Given the description of an element on the screen output the (x, y) to click on. 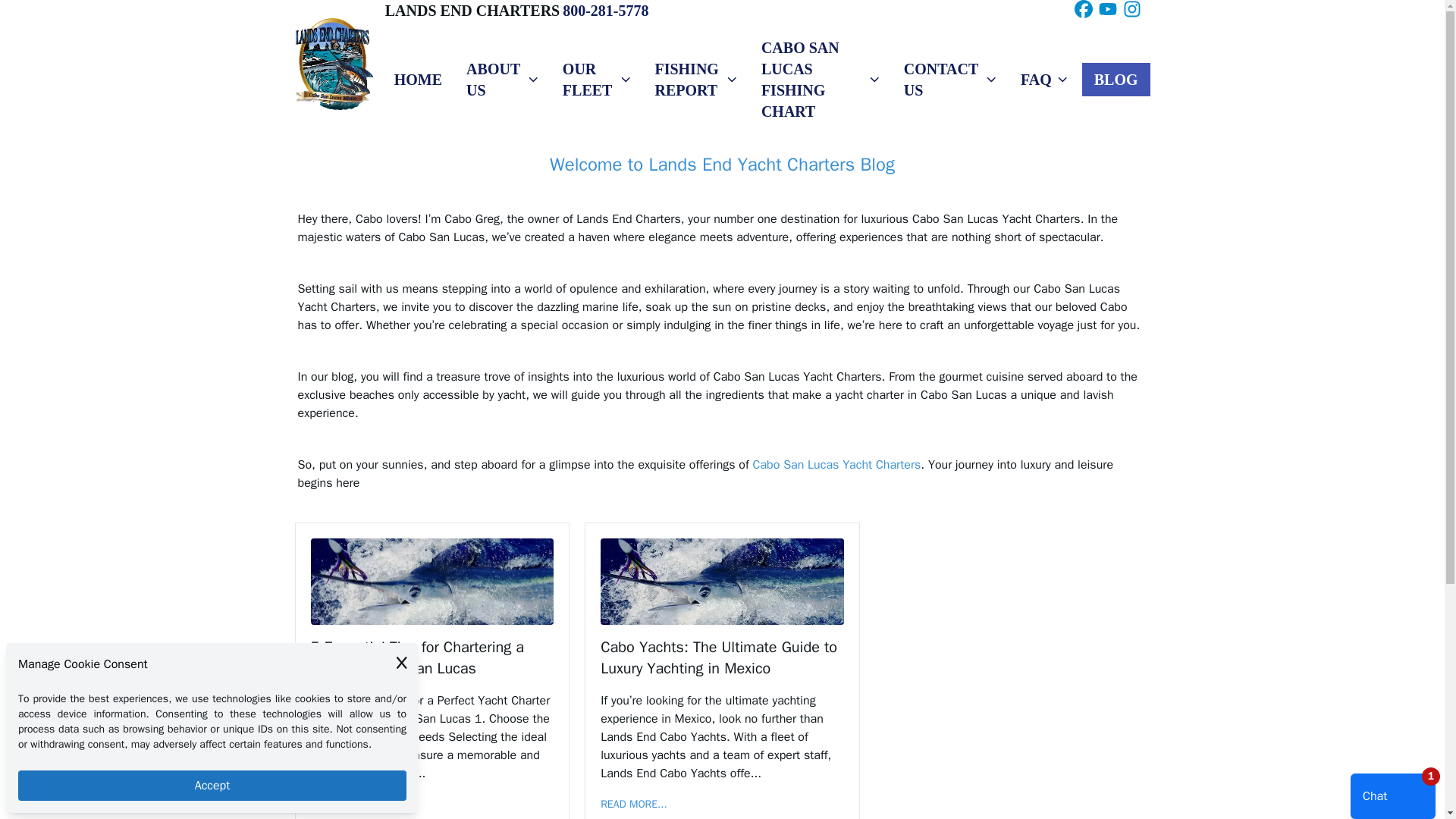
800-281-5778 (604, 10)
READ MORE... (632, 803)
CABO SAN LUCAS FISHING CHART (820, 78)
HOME (417, 78)
CONTACT US (950, 78)
Cabo Yachts: The Ultimate Guide to Luxury Yachting in Mexico (721, 658)
READ MORE... (344, 803)
FISHING REPORT (695, 78)
Cabo San Lucas Yacht Charters (836, 463)
BLOG (1115, 78)
